Given the description of an element on the screen output the (x, y) to click on. 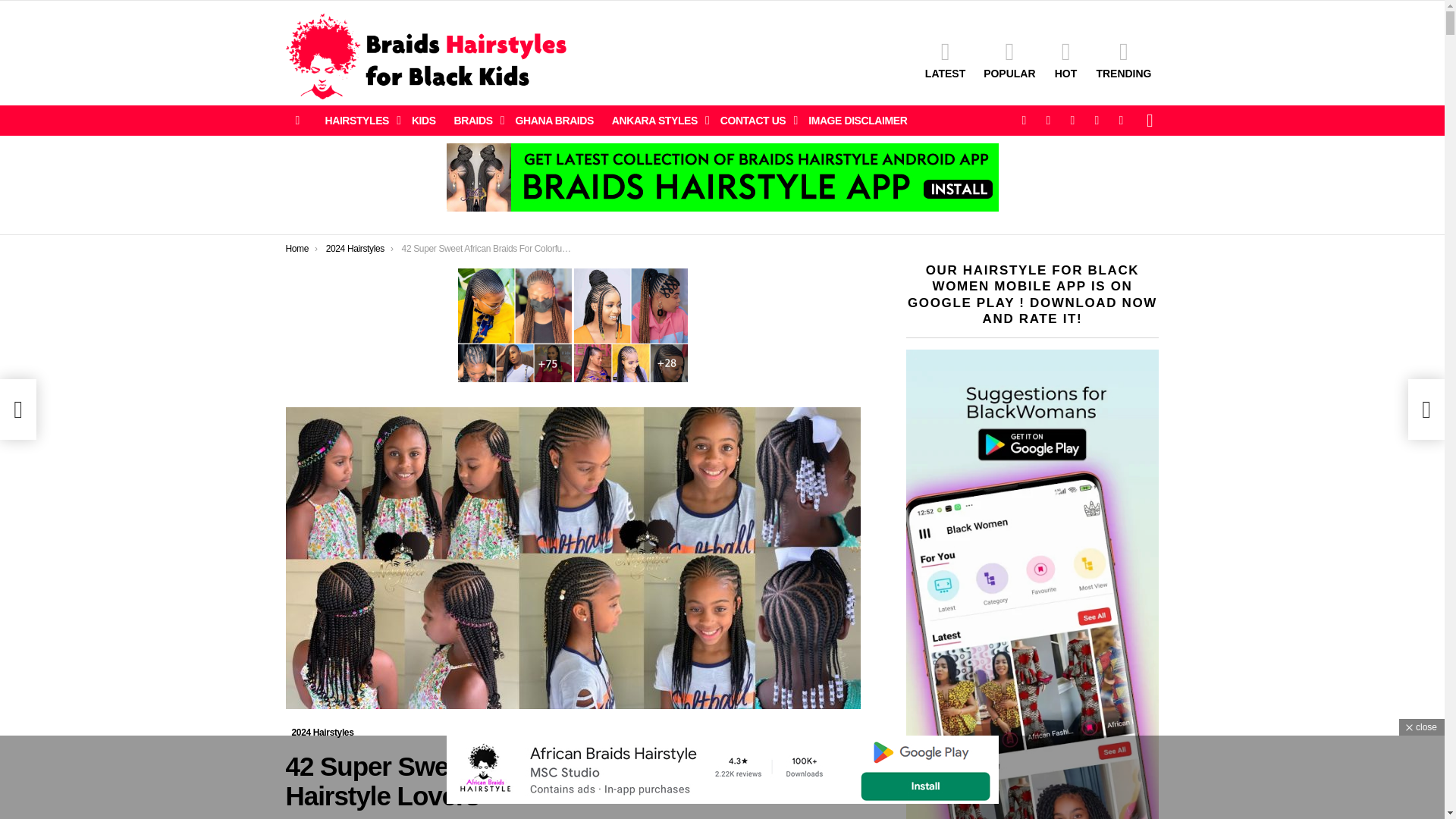
GHANA BRAIDS (554, 119)
POPULAR (1008, 59)
TRENDING (1122, 59)
youtube (1120, 120)
BRAIDS (475, 119)
KIDS (424, 119)
twitter (1047, 120)
HAIRSTYLES (358, 119)
CONTACT US (755, 119)
ANKARA STYLES (657, 119)
